Given the description of an element on the screen output the (x, y) to click on. 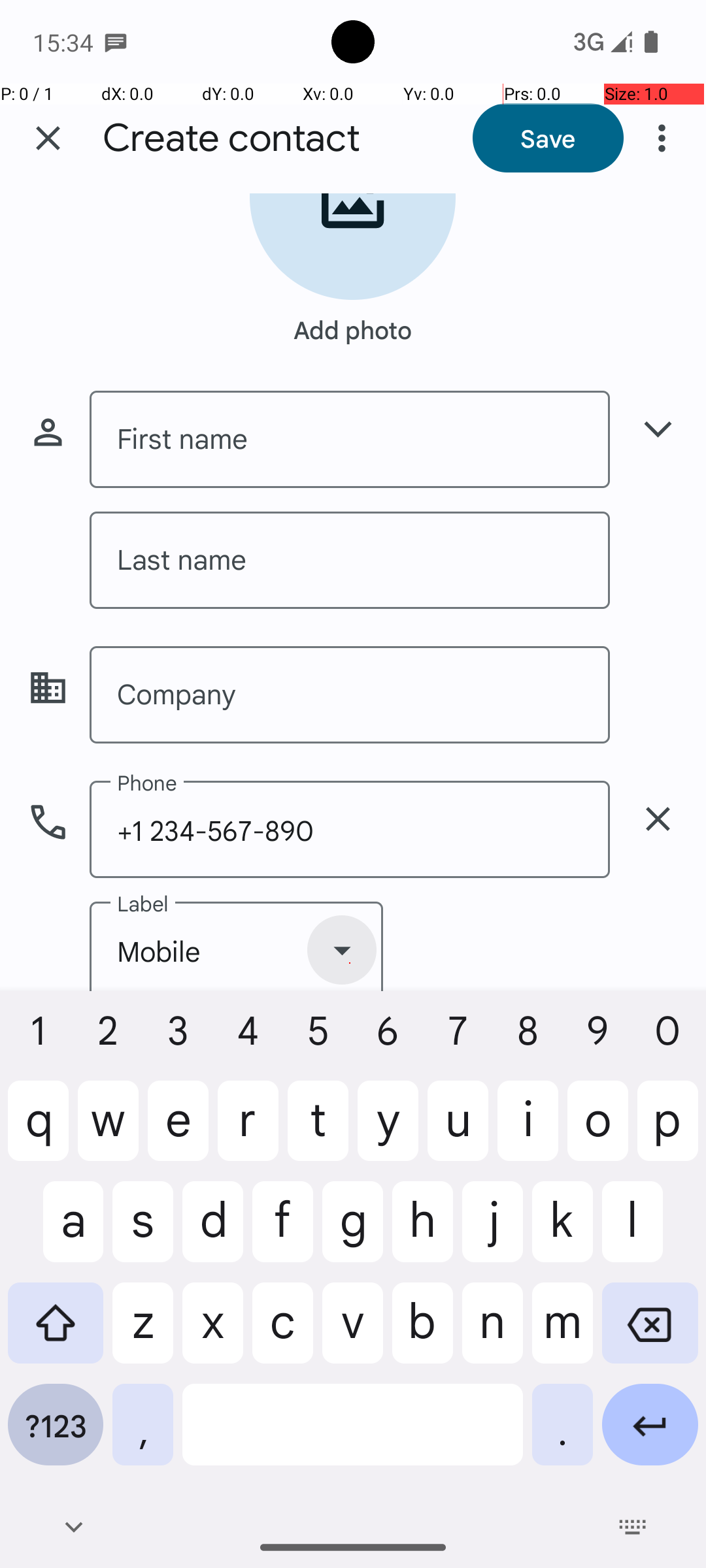
Create contact Element type: android.widget.TextView (231, 138)
Save Element type: android.widget.Button (547, 137)
First name Element type: android.widget.EditText (349, 439)
Last name Element type: android.widget.EditText (349, 559)
Company Element type: android.widget.EditText (349, 694)
+1 234-567-890 Element type: android.widget.EditText (349, 829)
Mobile Element type: android.widget.Spinner (236, 946)
Show dropdown menu Element type: android.widget.ImageButton (341, 949)
Delete Mobile Phone Element type: android.widget.FrameLayout (657, 818)
Add contact photo Element type: android.widget.ImageView (352, 241)
Add photo Element type: android.widget.TextView (352, 322)
Show more name fields Element type: android.widget.ImageView (657, 428)
delete Element type: android.widget.ImageView (657, 818)
Back Element type: android.widget.ImageView (73, 1526)
Switch input method Element type: android.widget.ImageView (632, 1526)
q Element type: android.widget.FrameLayout (38, 1130)
w Element type: android.widget.FrameLayout (108, 1130)
e Element type: android.widget.FrameLayout (178, 1130)
r Element type: android.widget.FrameLayout (248, 1130)
t Element type: android.widget.FrameLayout (318, 1130)
y Element type: android.widget.FrameLayout (387, 1130)
u Element type: android.widget.FrameLayout (457, 1130)
i Element type: android.widget.FrameLayout (527, 1130)
o Element type: android.widget.FrameLayout (597, 1130)
p Element type: android.widget.FrameLayout (667, 1130)
a Element type: android.widget.FrameLayout (55, 1231)
s Element type: android.widget.FrameLayout (142, 1231)
d Element type: android.widget.FrameLayout (212, 1231)
f Element type: android.widget.FrameLayout (282, 1231)
g Element type: android.widget.FrameLayout (352, 1231)
h Element type: android.widget.FrameLayout (422, 1231)
j Element type: android.widget.FrameLayout (492, 1231)
k Element type: android.widget.FrameLayout (562, 1231)
l Element type: android.widget.FrameLayout (649, 1231)
Shift Element type: android.widget.FrameLayout (55, 1332)
z Element type: android.widget.FrameLayout (142, 1332)
x Element type: android.widget.FrameLayout (212, 1332)
c Element type: android.widget.FrameLayout (282, 1332)
v Element type: android.widget.FrameLayout (352, 1332)
b Element type: android.widget.FrameLayout (422, 1332)
n Element type: android.widget.FrameLayout (492, 1332)
m Element type: android.widget.FrameLayout (562, 1332)
Symbol keyboard Element type: android.widget.FrameLayout (55, 1434)
, Element type: android.widget.FrameLayout (142, 1434)
Space Element type: android.widget.FrameLayout (352, 1434)
. Element type: android.widget.FrameLayout (562, 1434)
Enter Element type: android.widget.FrameLayout (649, 1434)
